Given the description of an element on the screen output the (x, y) to click on. 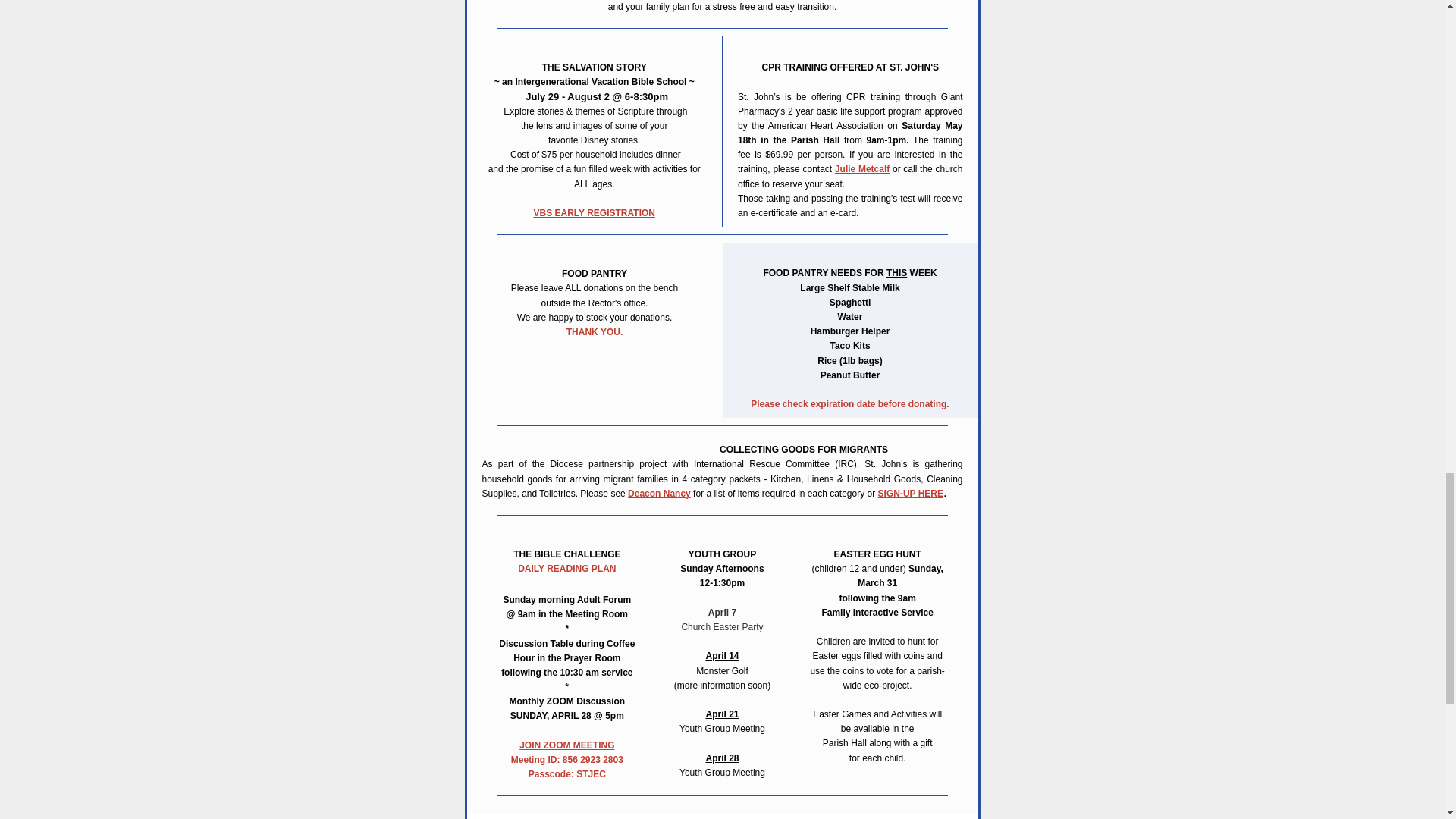
Deacon Nancy (658, 493)
SIGN-UP HERE (910, 493)
Julie Metcalf (861, 168)
DAILY READING PLAN (566, 568)
VBS EARLY REGISTRATION (594, 213)
JOIN ZOOM MEETING (566, 745)
